Given the description of an element on the screen output the (x, y) to click on. 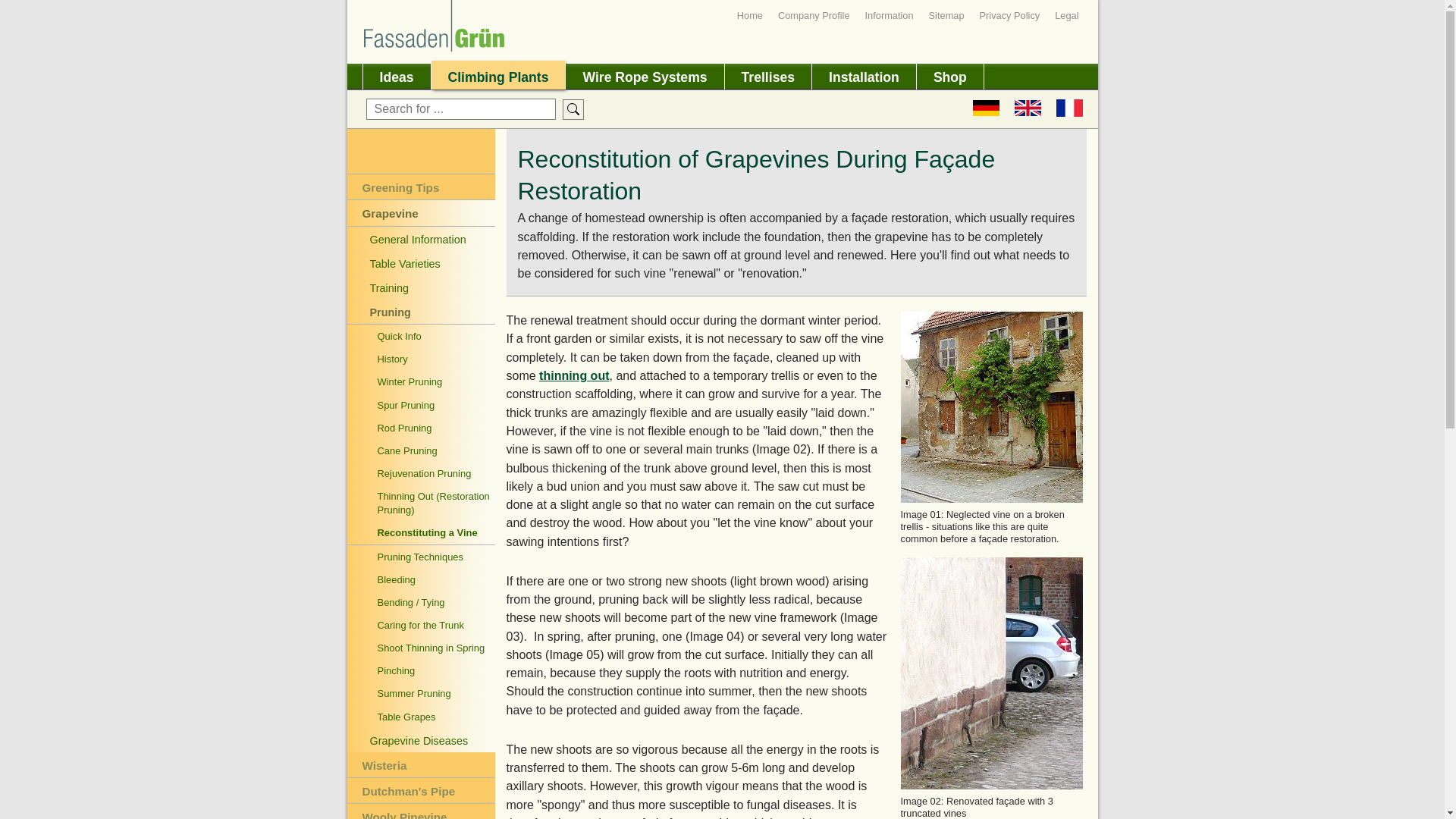
Legal (1066, 15)
Sitemap (945, 15)
Table Varieties (421, 262)
Shop (950, 74)
Summer Pruning (421, 692)
General Information (421, 238)
Spur Pruning (421, 404)
Ideas for Greening and Trellis Systems (395, 74)
Company Profile (813, 15)
Deutsch (985, 110)
Pruning Techniques (421, 556)
History (421, 358)
Quick Info (421, 335)
Training (421, 287)
Reconstituting a Vine (421, 532)
